Given the description of an element on the screen output the (x, y) to click on. 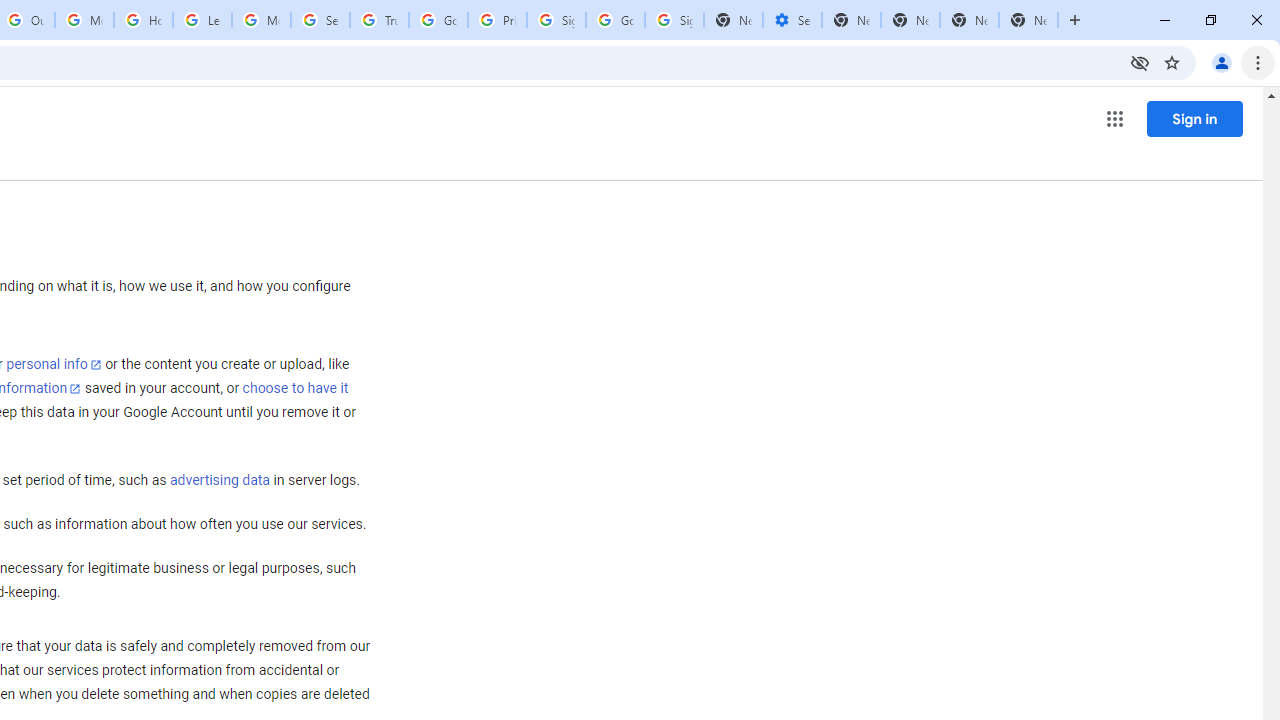
personal info (54, 364)
Sign in - Google Accounts (674, 20)
Google Cybersecurity Innovations - Google Safety Center (615, 20)
